Given the description of an element on the screen output the (x, y) to click on. 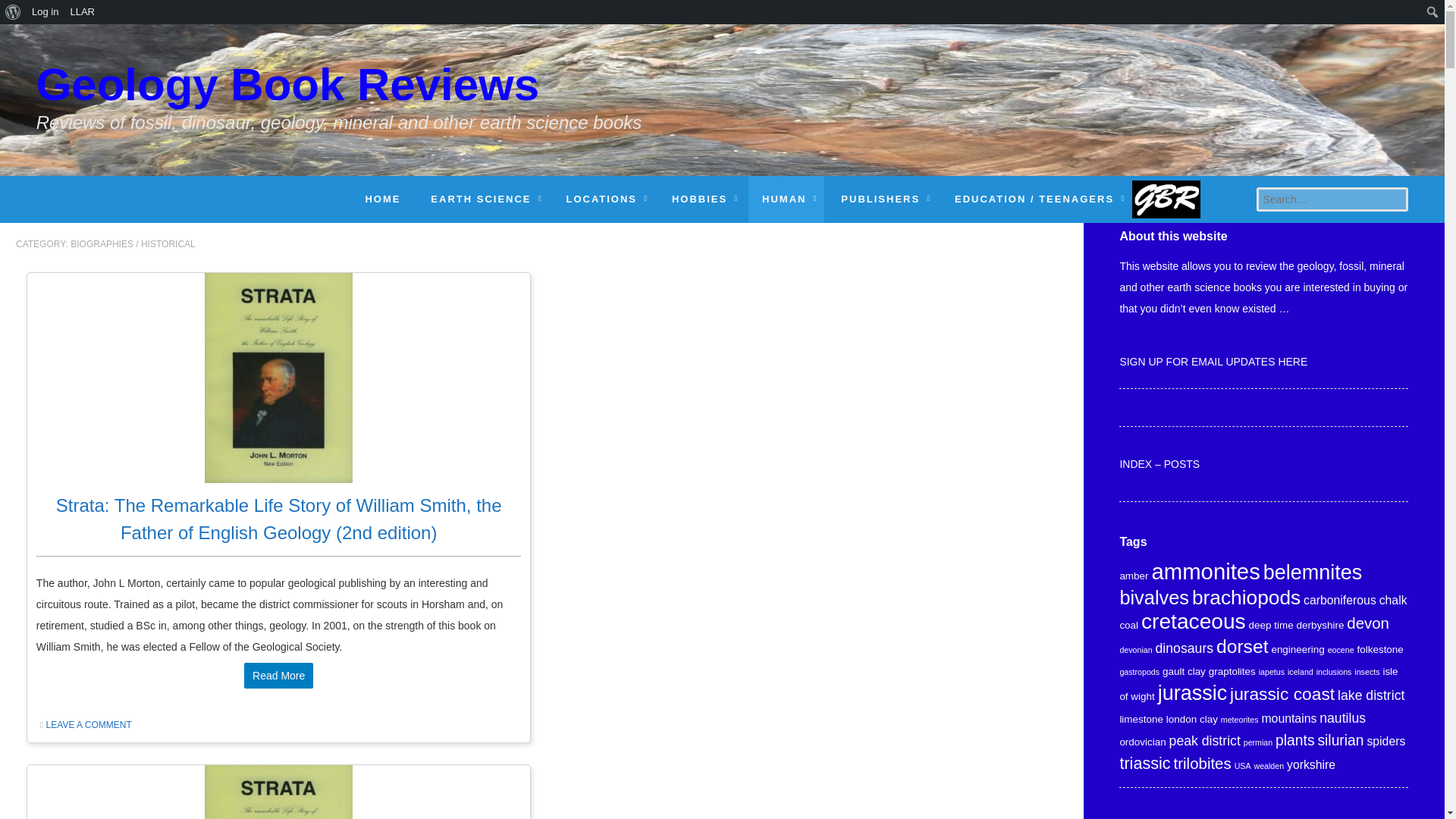
Search (16, 12)
Geology Book Reviews (339, 95)
LLAR (82, 12)
Log in (45, 12)
